Given the description of an element on the screen output the (x, y) to click on. 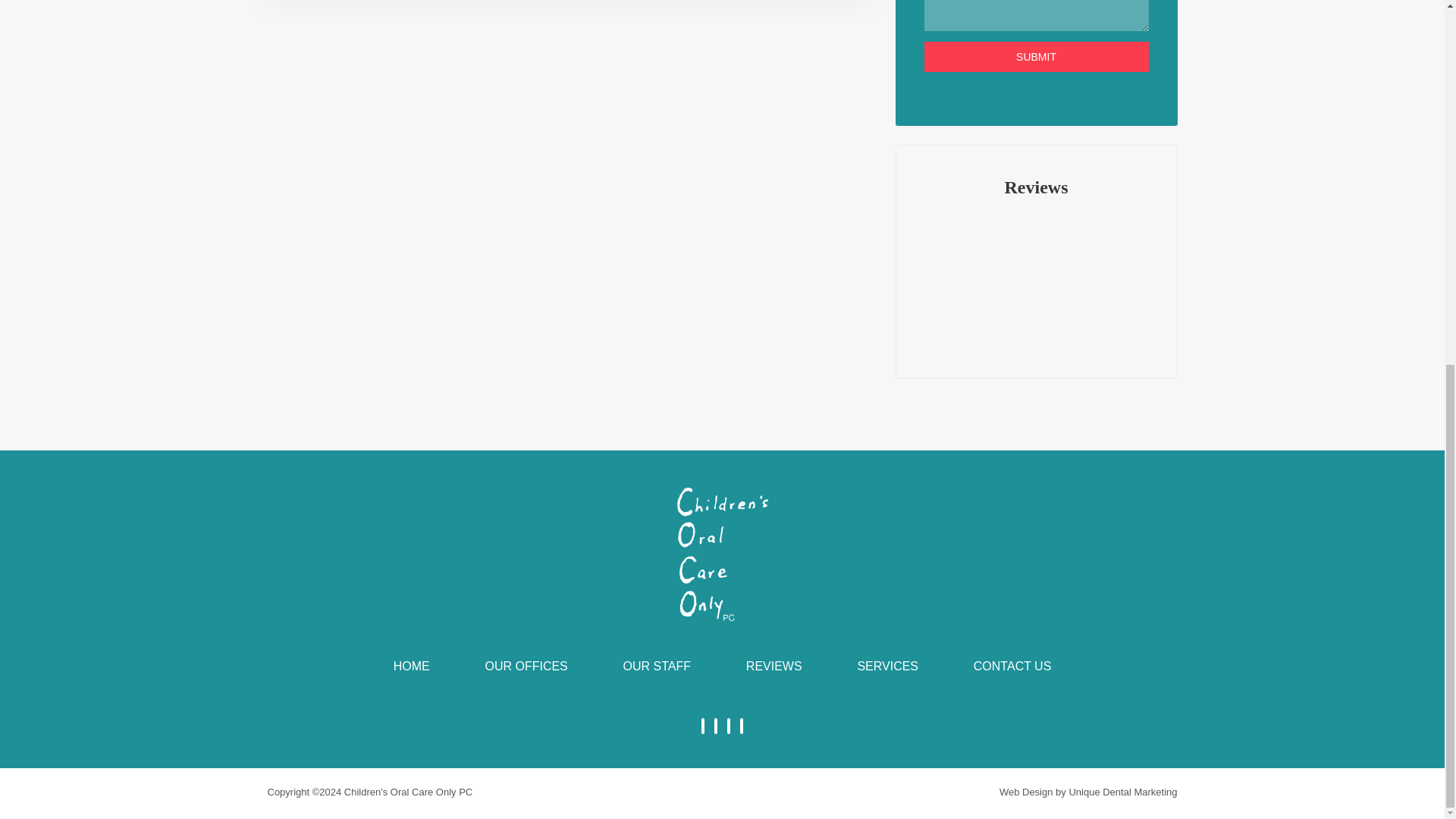
Submit (1035, 56)
